Given the description of an element on the screen output the (x, y) to click on. 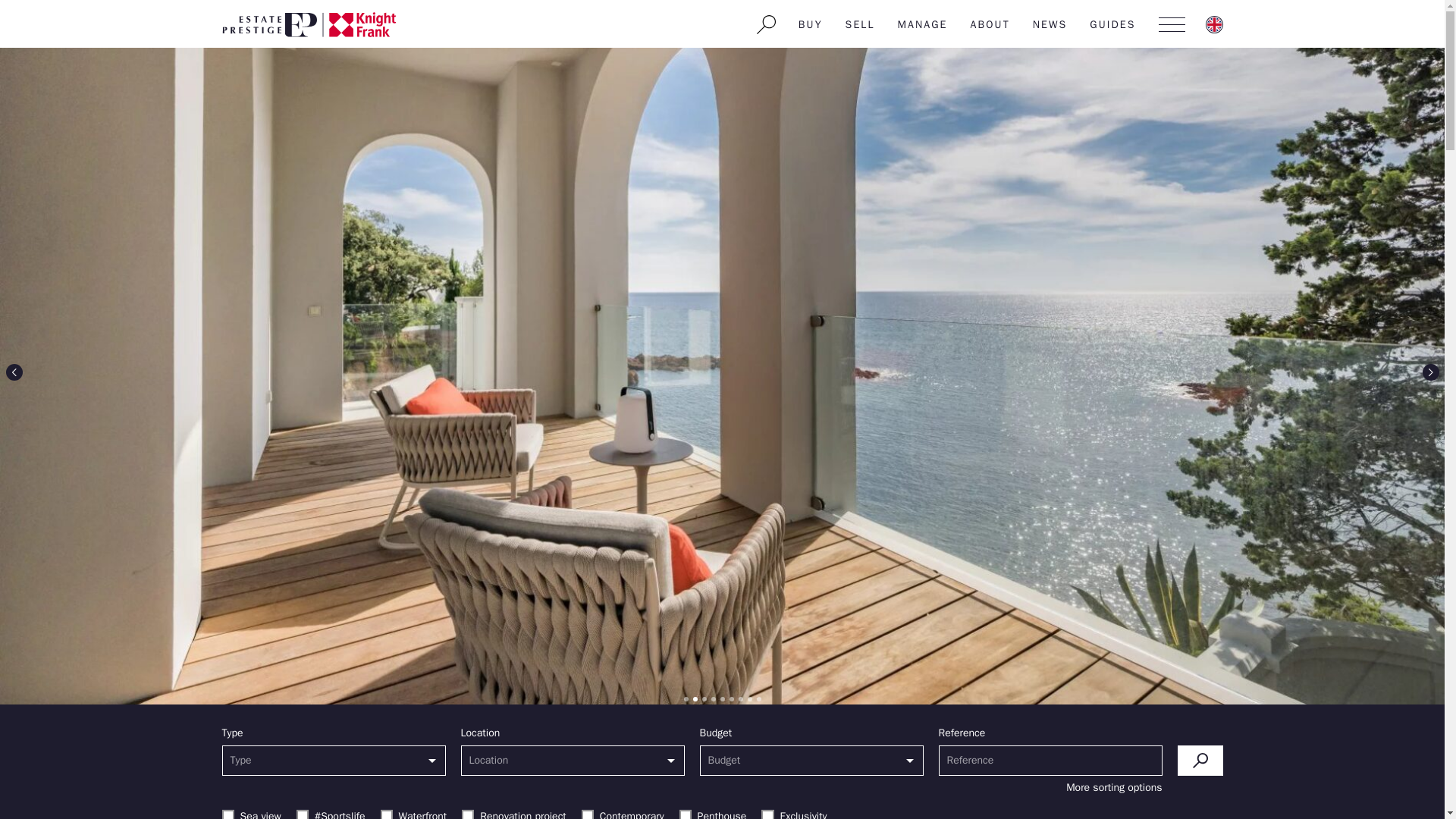
waterfront (386, 814)
penthouse (685, 814)
contemporary (587, 814)
ABOUT (990, 24)
GUIDES (1112, 24)
NEWS (1050, 24)
exclusivite (767, 814)
BUY (810, 24)
SELL (860, 24)
MANAGE (922, 24)
sportslife (302, 814)
